Given the description of an element on the screen output the (x, y) to click on. 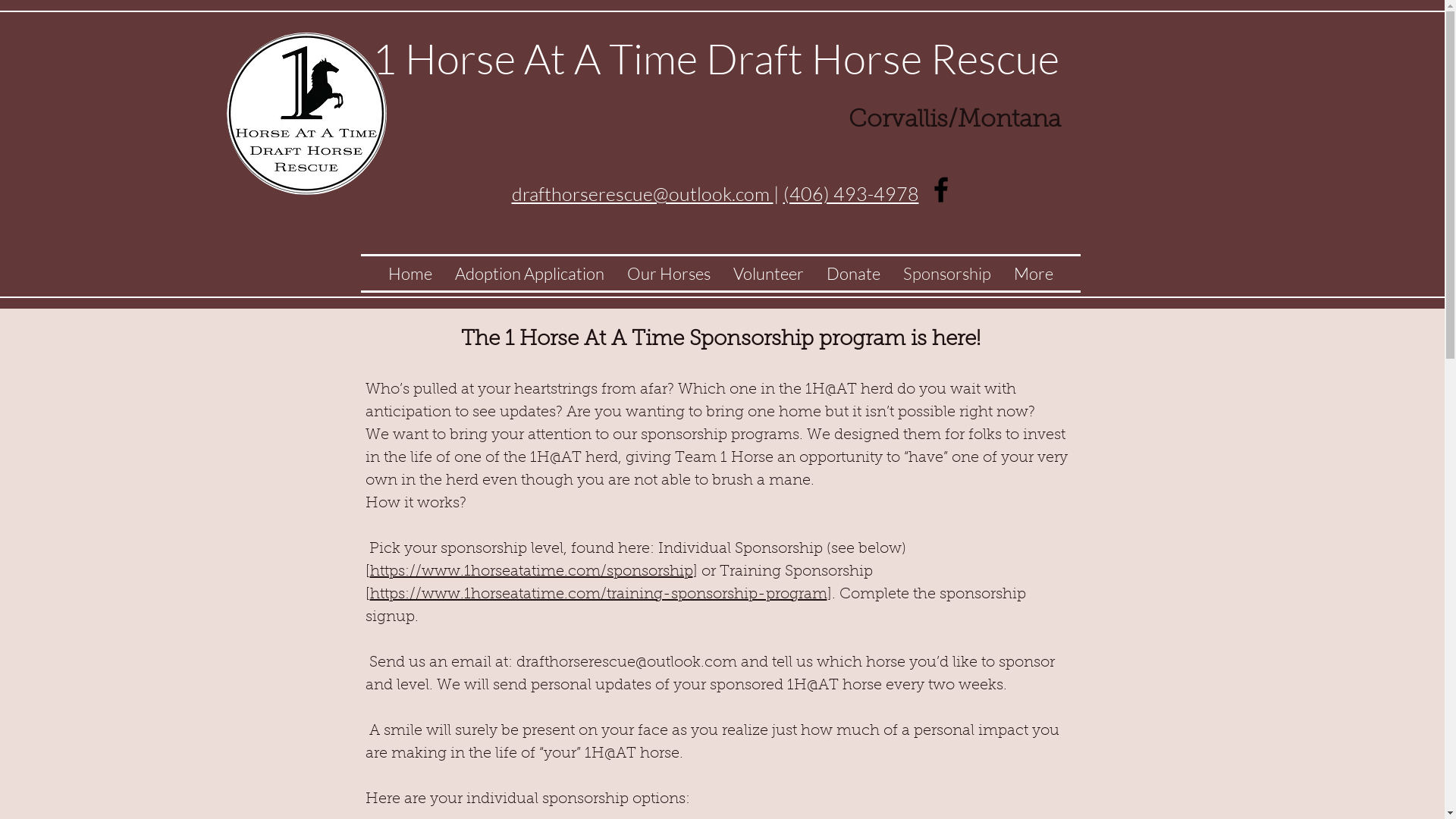
(406) 493-4978 Element type: text (850, 193)
https://www.1horseatatime.com/training-sponsorship-program Element type: text (598, 594)
Home Element type: text (409, 273)
Sponsorship Element type: text (946, 273)
https://www.1horseatatime.com/sponsorship Element type: text (531, 571)
Donate Element type: text (852, 273)
drafthorserescue@outlook.com Element type: text (625, 662)
Volunteer Element type: text (768, 273)
Adoption Application Element type: text (528, 273)
drafthorserescue@outlook.com Element type: text (641, 193)
